Given the description of an element on the screen output the (x, y) to click on. 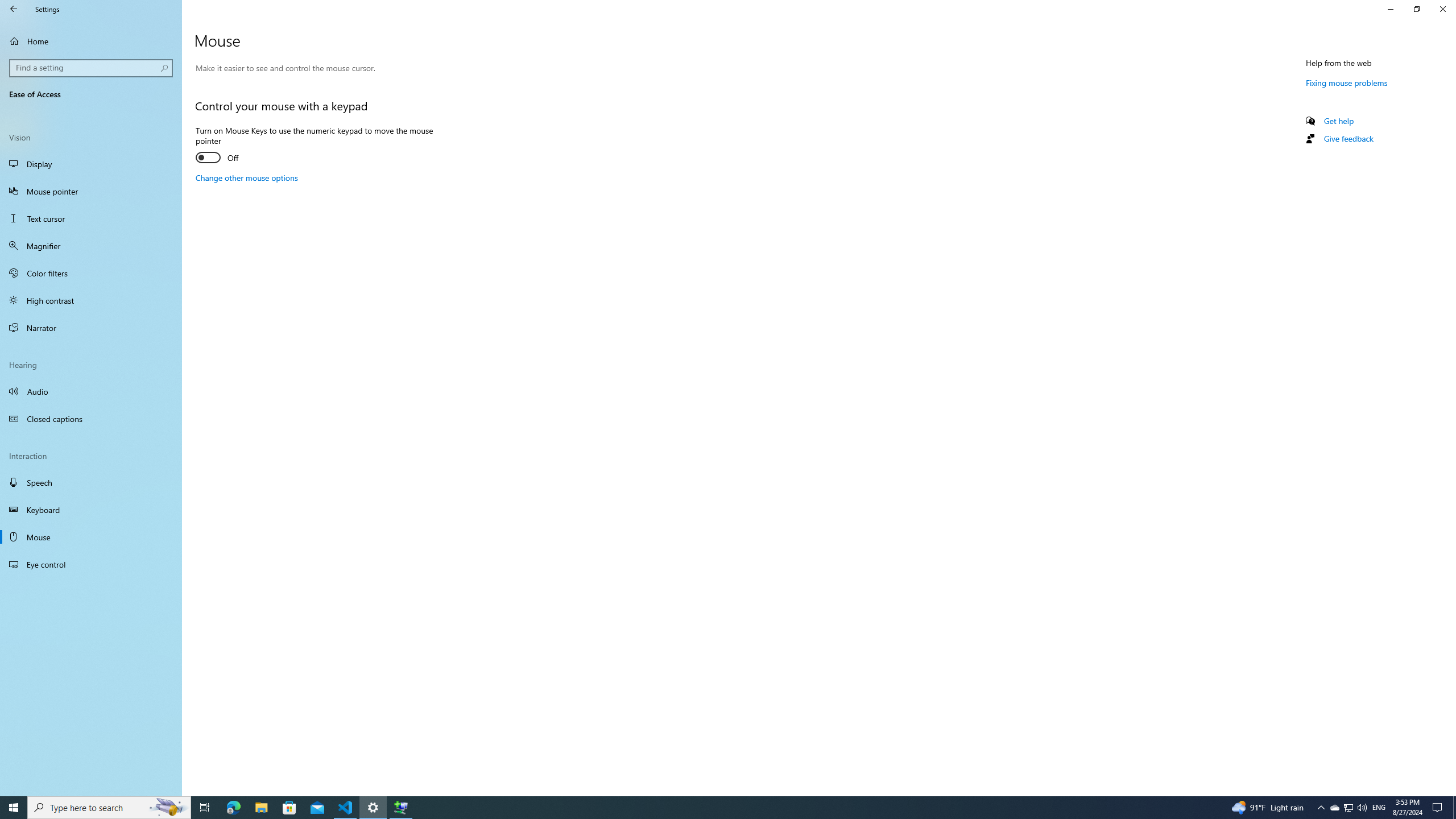
Mouse pointer (91, 190)
